Given the description of an element on the screen output the (x, y) to click on. 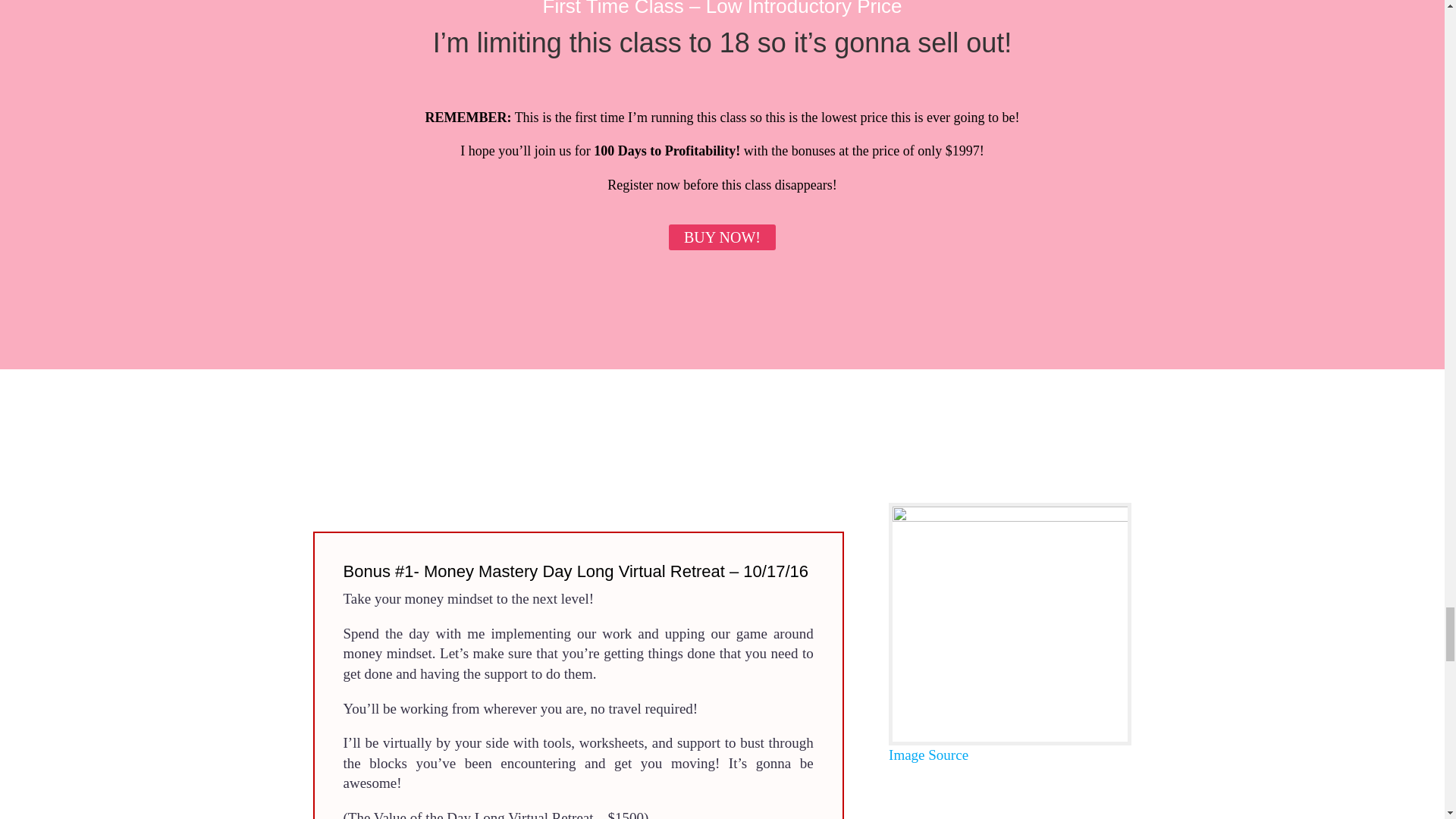
BUY NOW! (722, 237)
Image Source (928, 754)
Image courtesy of Freepik (928, 754)
